Given the description of an element on the screen output the (x, y) to click on. 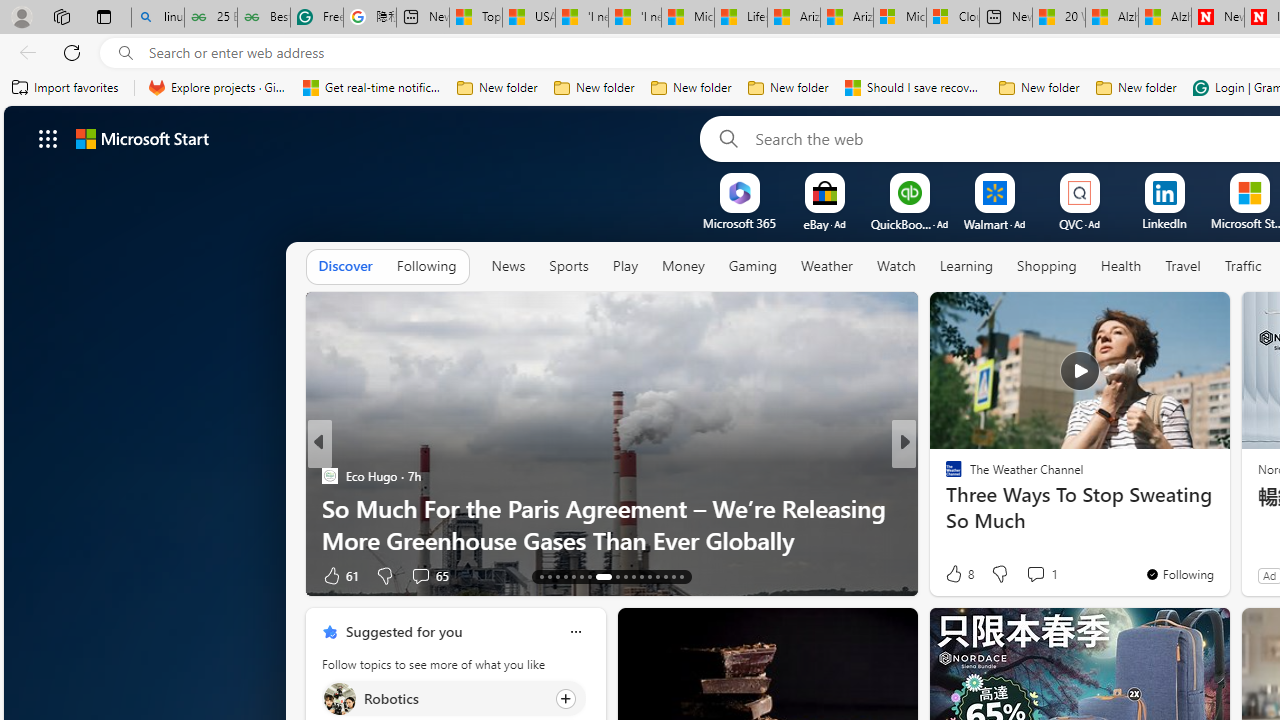
View comments 10 Comment (1051, 574)
AutomationID: tab-15 (556, 576)
AutomationID: tab-28 (673, 576)
View comments 7 Comment (1041, 574)
View comments 3 Comment (1042, 575)
CNET (944, 507)
